Given the description of an element on the screen output the (x, y) to click on. 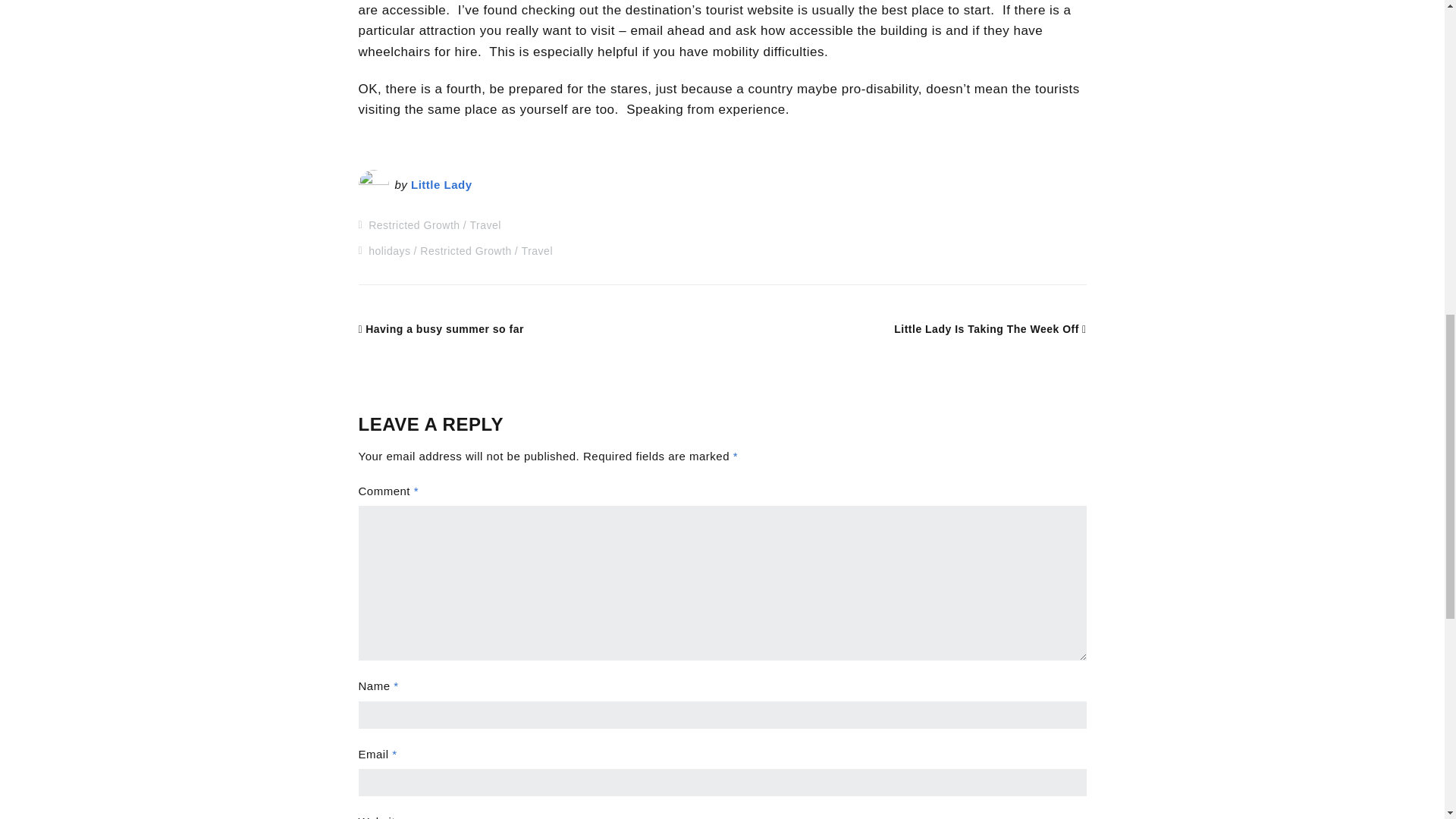
Little Lady (440, 184)
Having a busy summer so far (440, 328)
Little Lady Is Taking The Week Off (989, 328)
Restricted Growth (414, 224)
Restricted Growth (466, 250)
Travel (484, 224)
holidays (389, 250)
Travel (537, 250)
